Given the description of an element on the screen output the (x, y) to click on. 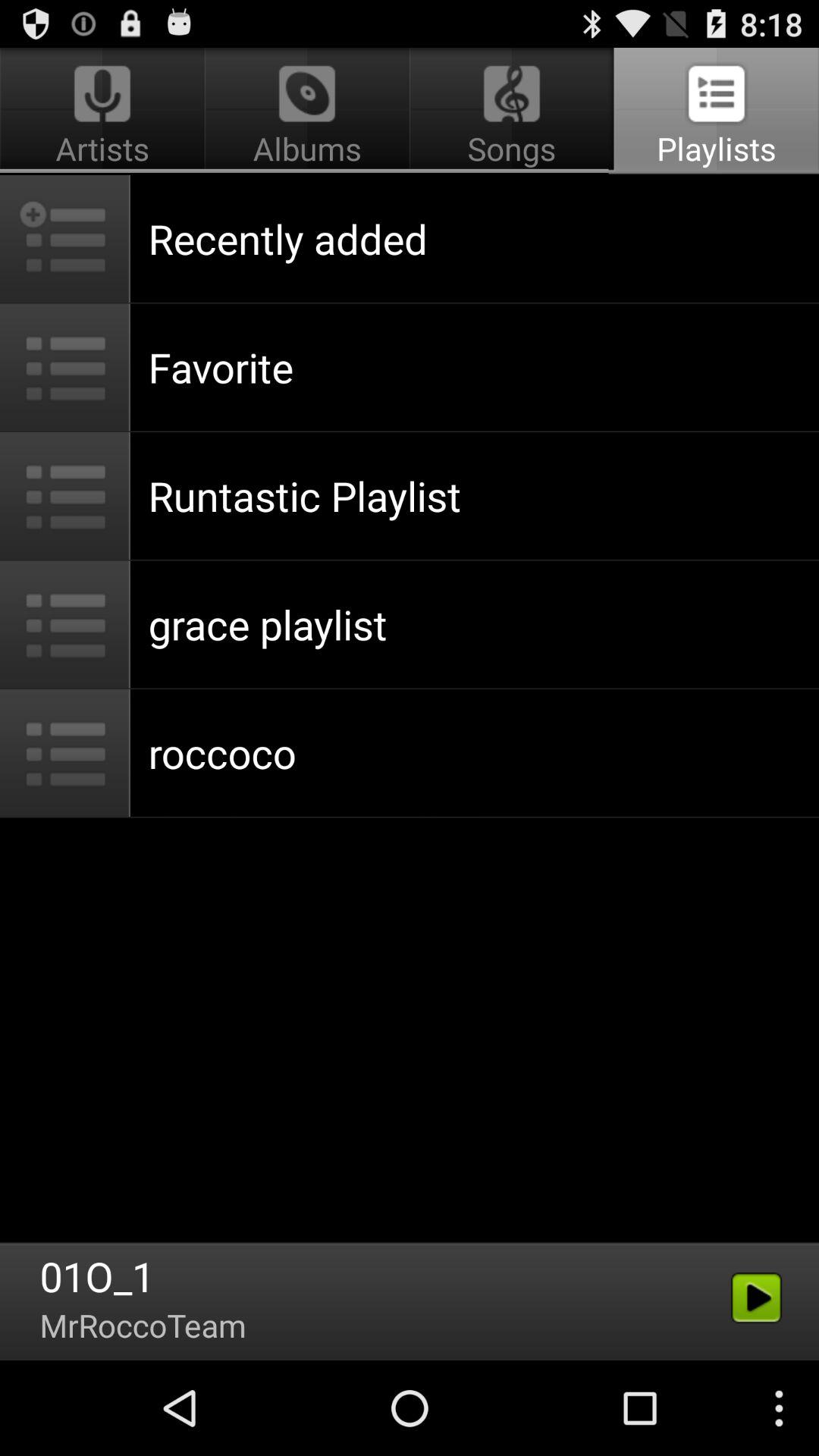
scroll to albums item (307, 111)
